Given the description of an element on the screen output the (x, y) to click on. 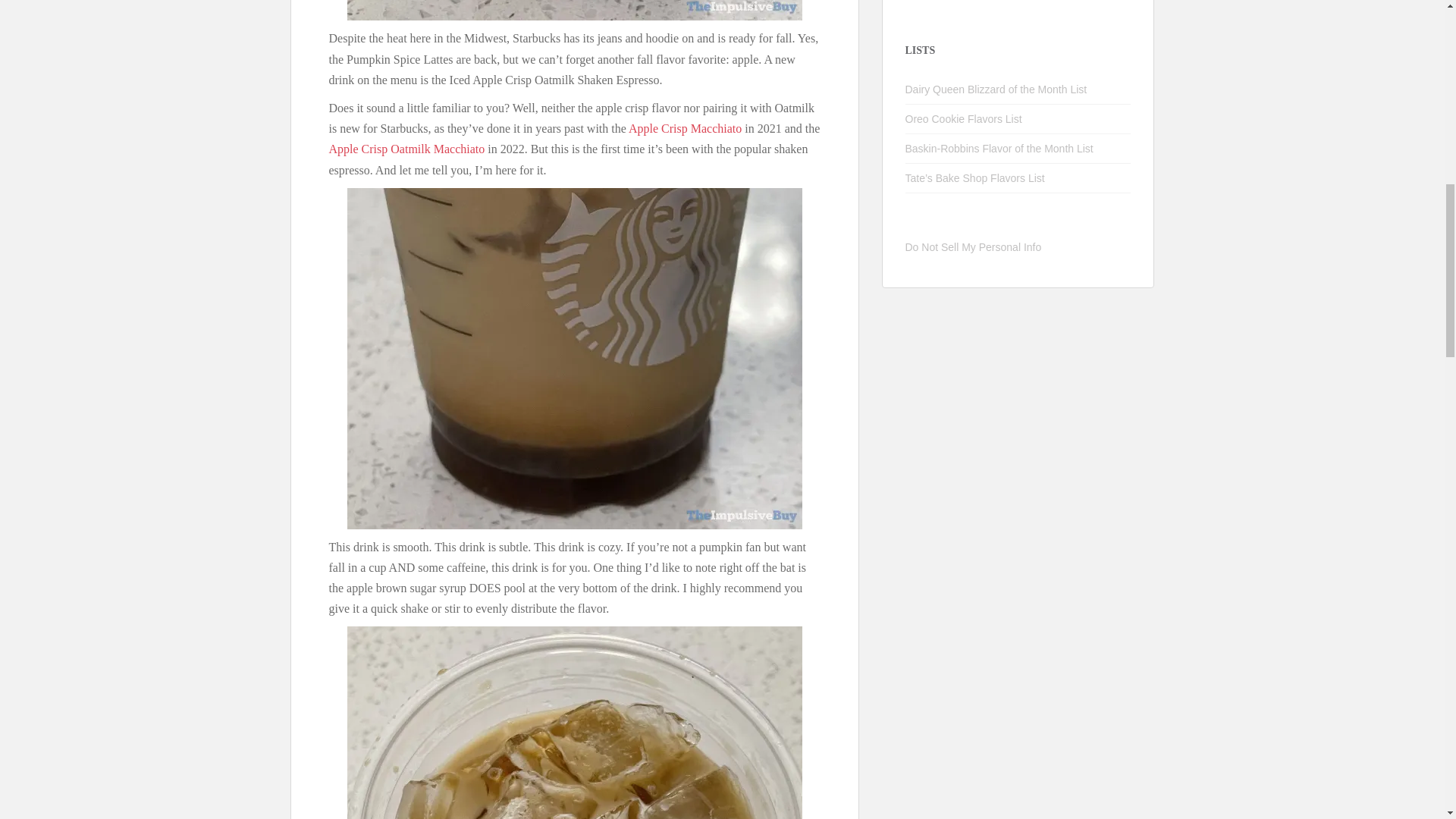
Apple Crisp Macchiato (684, 128)
Apple Crisp Oatmilk Macchiato (406, 148)
